Given the description of an element on the screen output the (x, y) to click on. 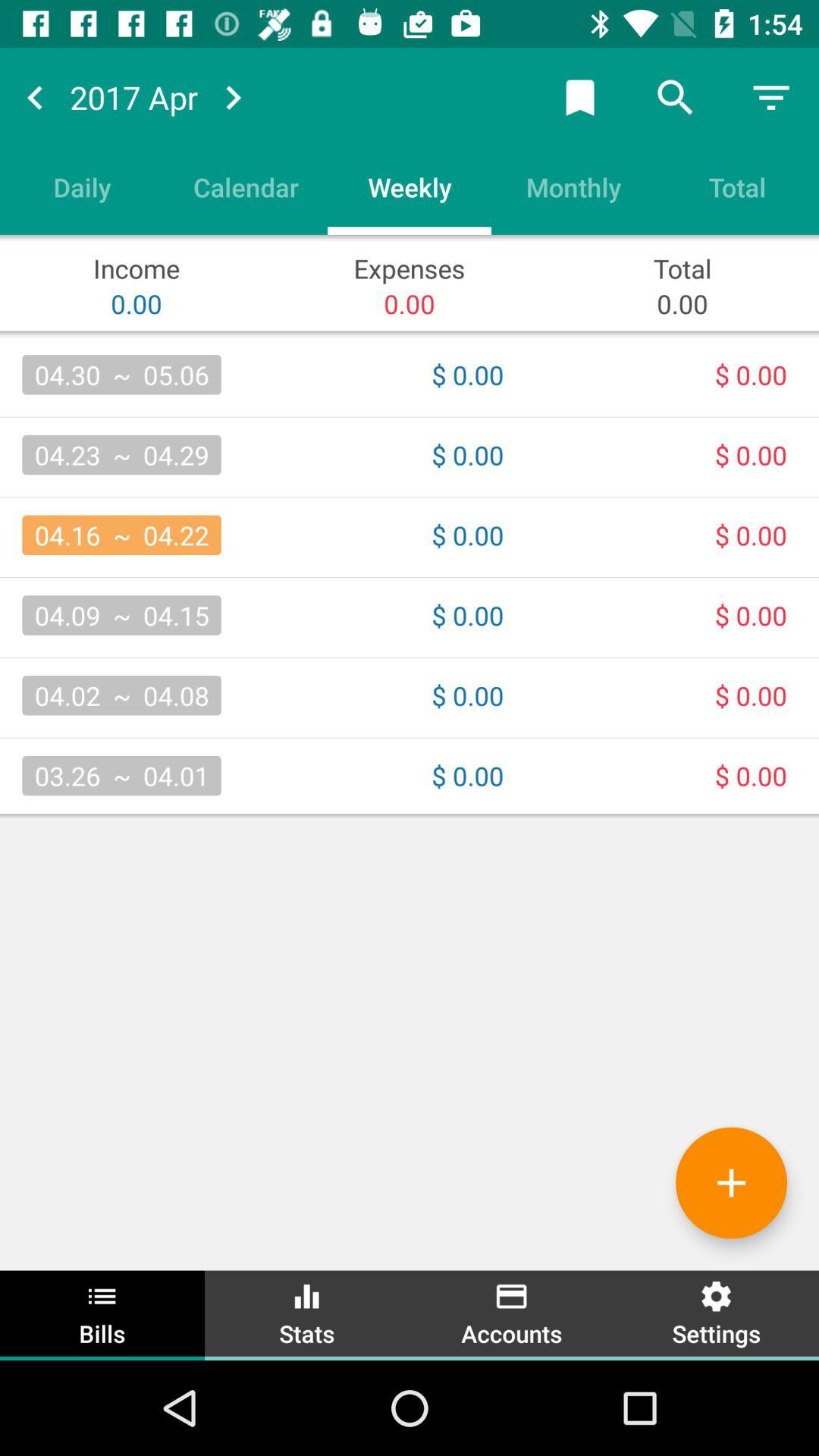
menu (771, 97)
